Given the description of an element on the screen output the (x, y) to click on. 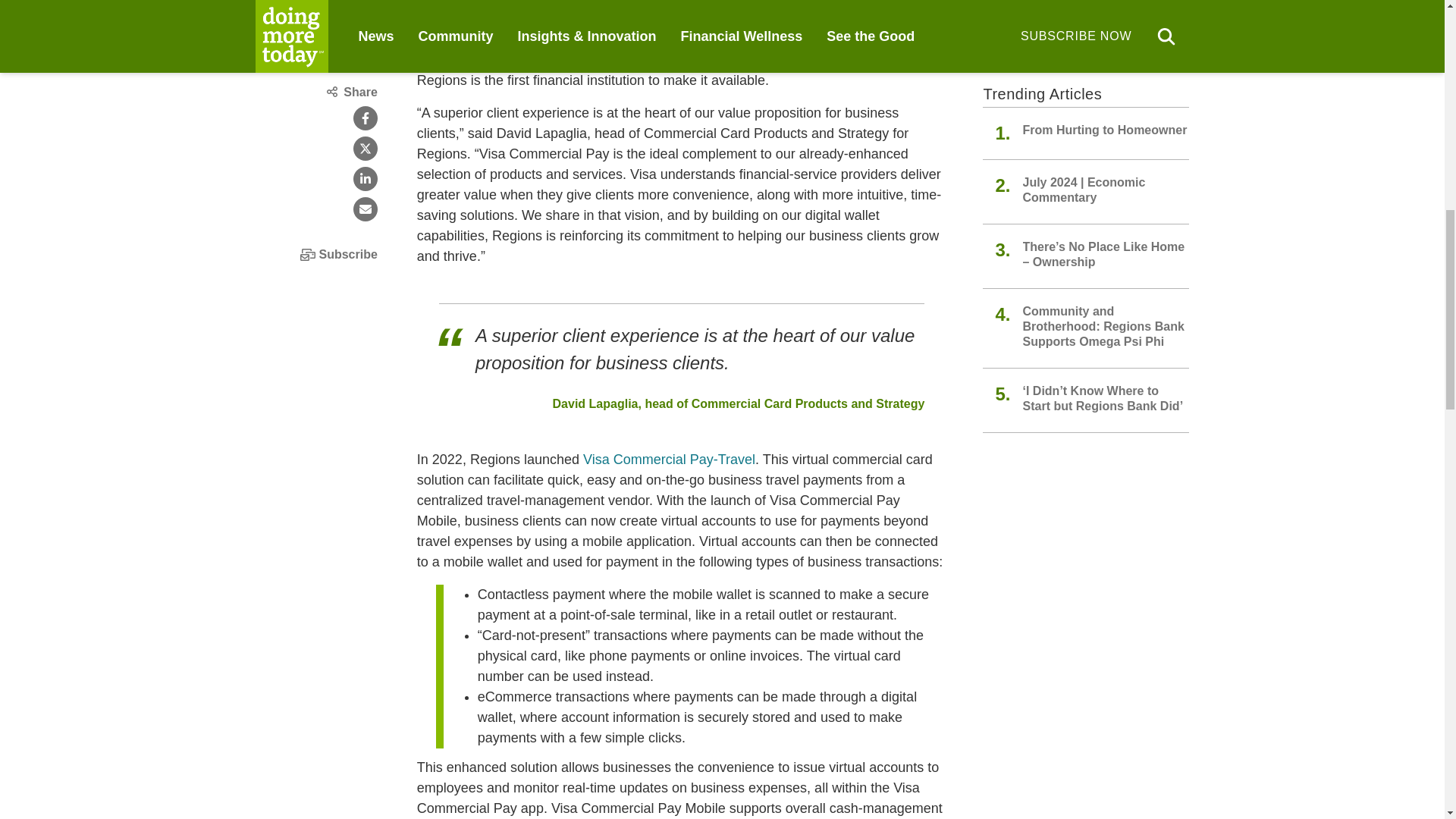
Regions Bank (695, 3)
Visa Commercial Pay-Travel (669, 459)
